Given the description of an element on the screen output the (x, y) to click on. 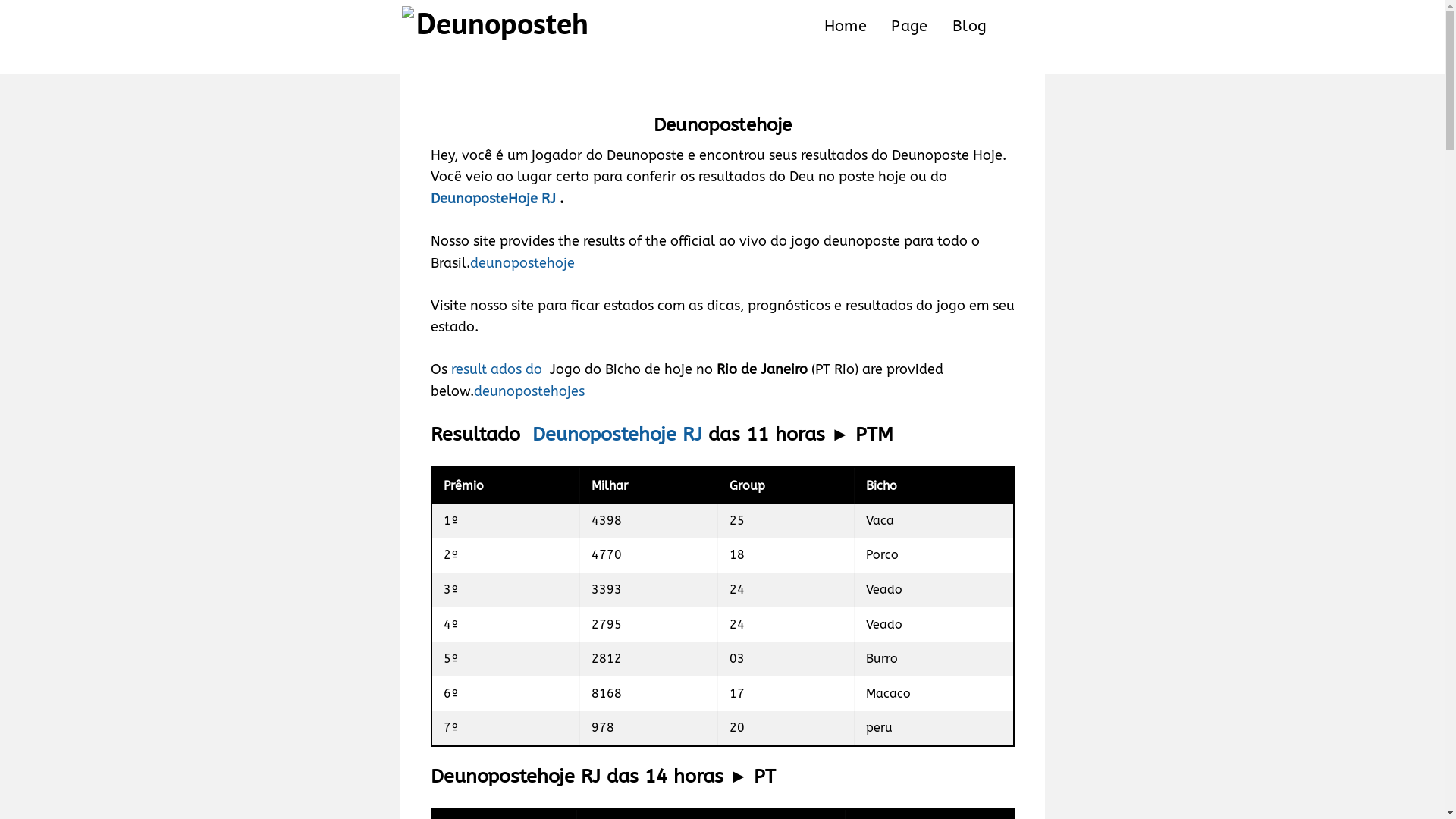
Page Element type: text (909, 26)
deunopostehojes Element type: text (528, 390)
result Element type: text (469, 368)
deunopostehoje Element type: text (522, 262)
Blog Element type: text (969, 26)
ados do Element type: text (515, 368)
DeunoposteHoje RJ Element type: text (492, 198)
Deunopostehoje RJ Element type: text (617, 434)
Home Element type: text (845, 26)
